Given the description of an element on the screen output the (x, y) to click on. 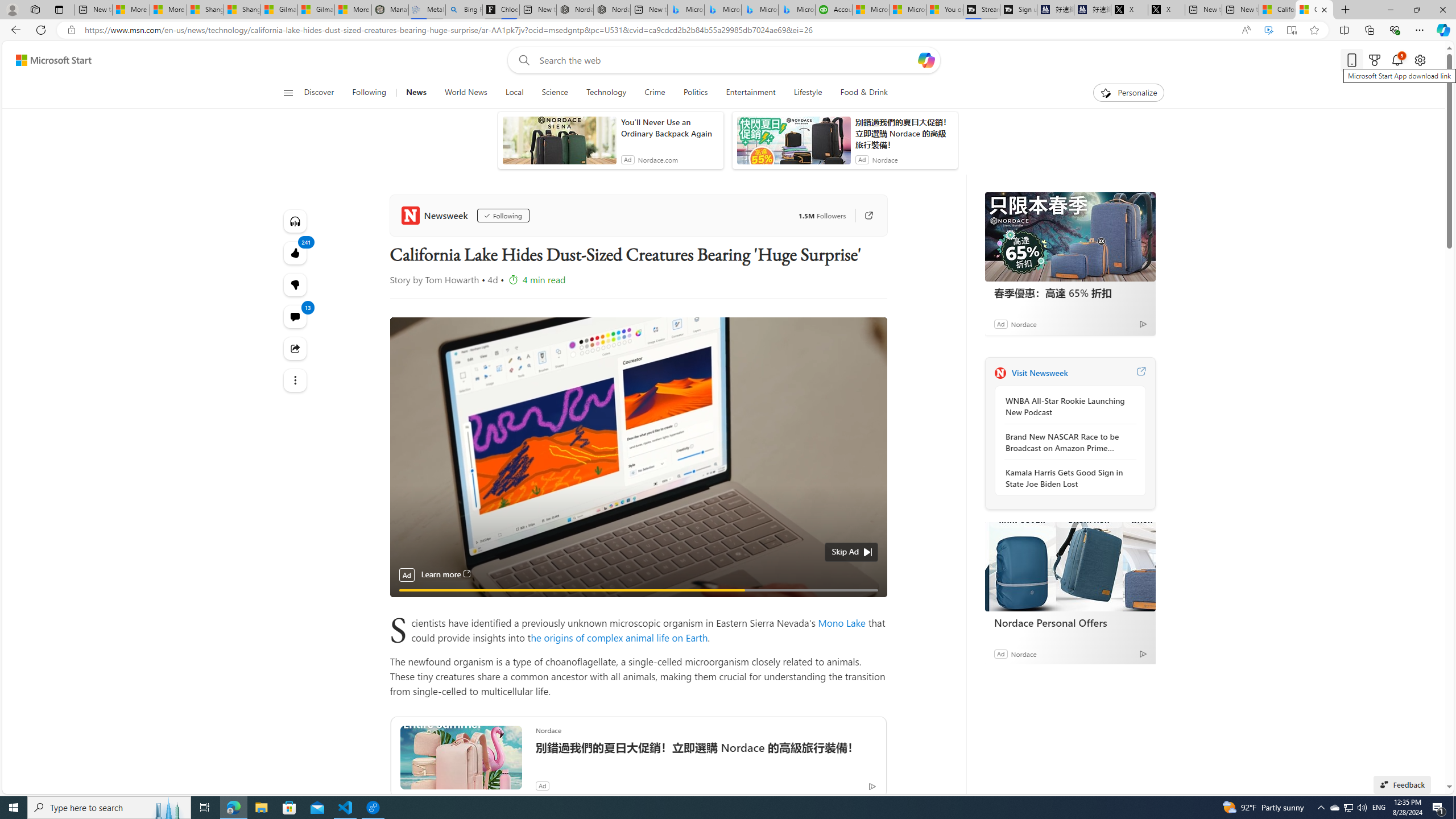
More like this241Fewer like thisView comments (295, 284)
WNBA All-Star Rookie Launching New Podcast (1066, 406)
Local (514, 92)
Go to publisher's site (863, 215)
Pause (406, 603)
View comments 13 Comment (295, 316)
anim-content (793, 144)
Newsweek (436, 215)
Mono Lake (842, 621)
